Given the description of an element on the screen output the (x, y) to click on. 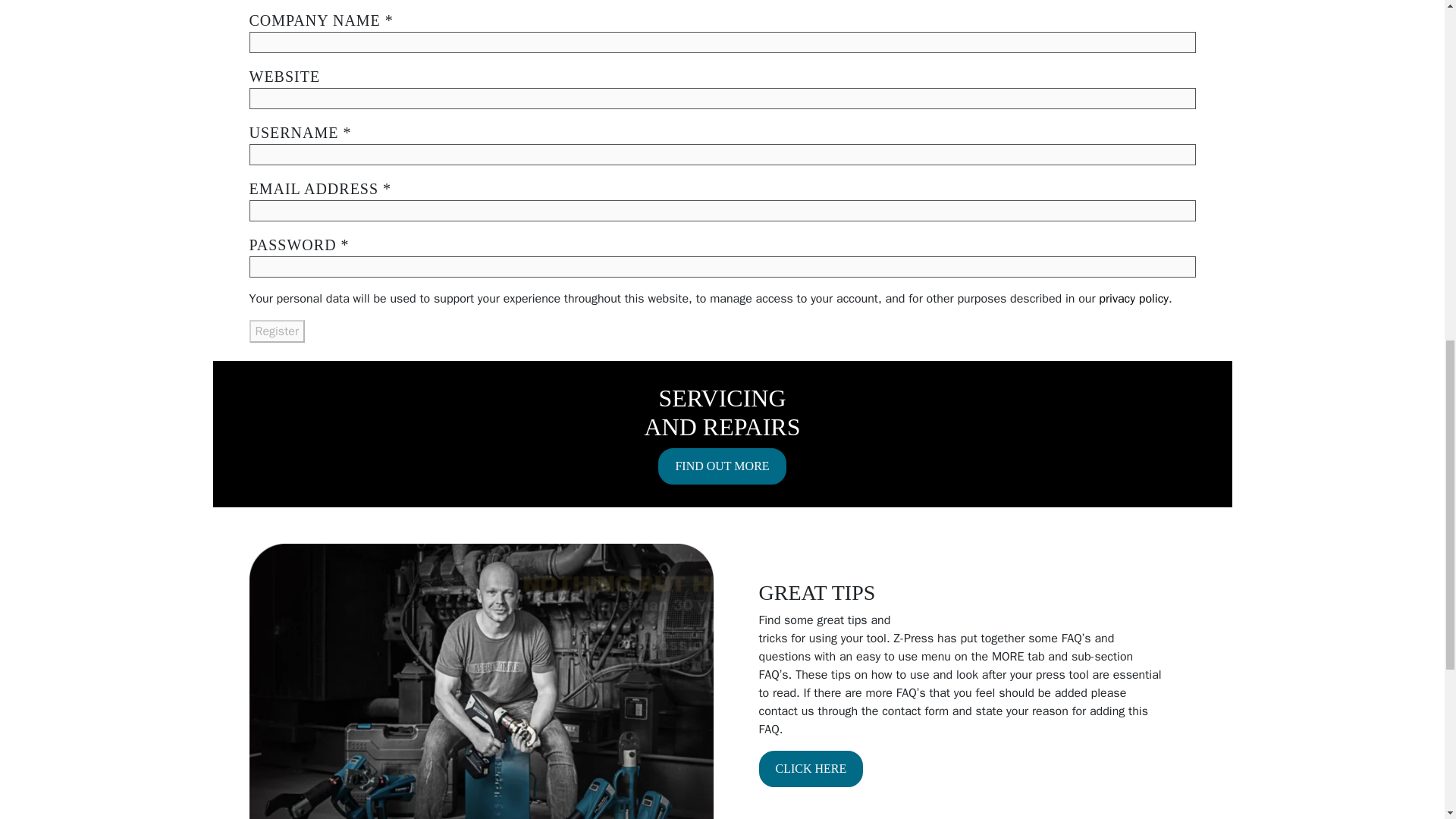
privacy policy (1134, 298)
CLICK HERE (810, 769)
FIND OUT MORE (722, 465)
Register (276, 331)
